Given the description of an element on the screen output the (x, y) to click on. 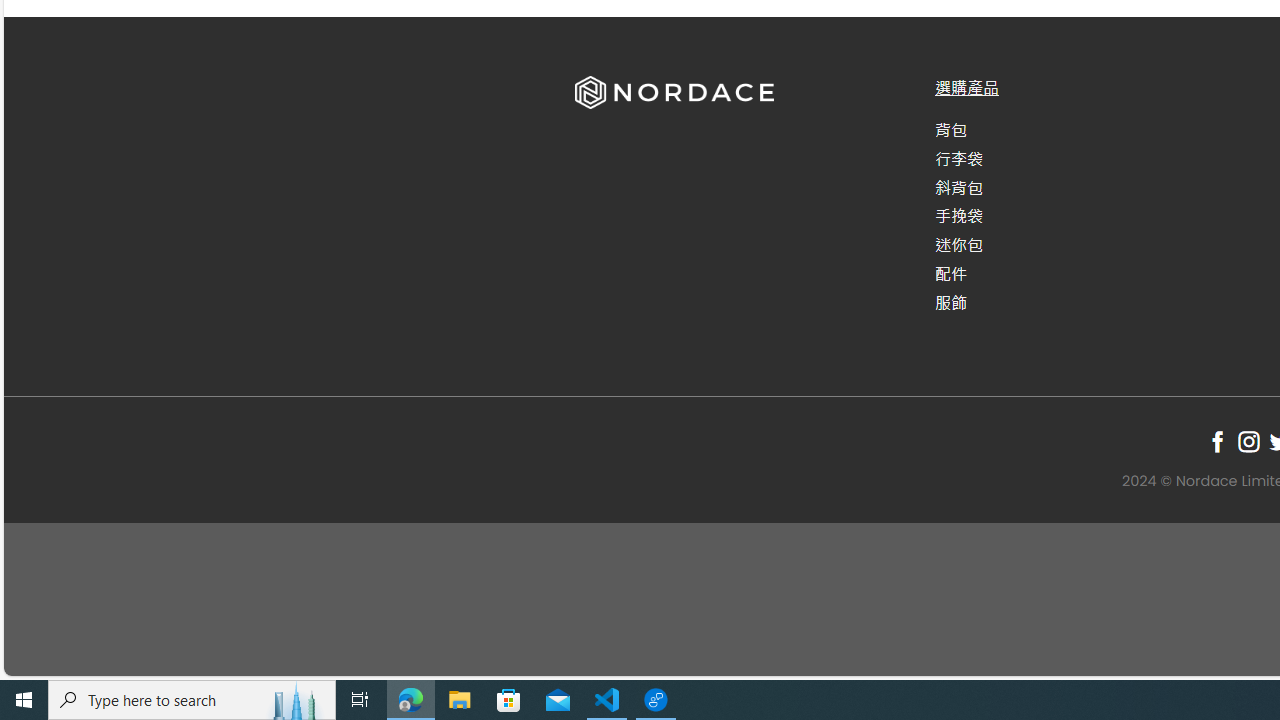
Follow on Facebook (1217, 441)
Follow on Instagram (1248, 441)
